Given the description of an element on the screen output the (x, y) to click on. 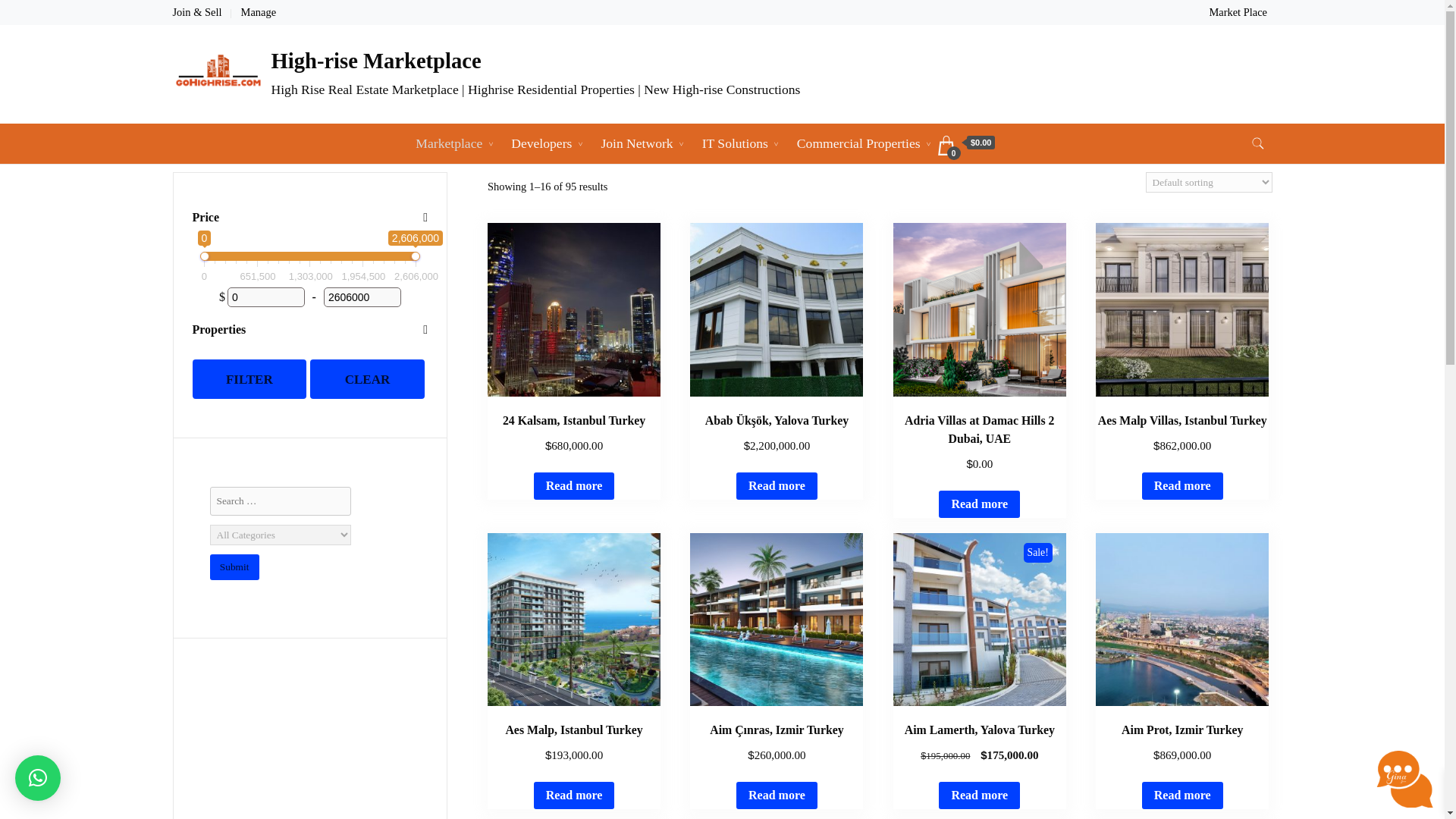
Commercial Properties (858, 143)
High-rise Marketplace (375, 60)
Manage (258, 11)
0 (265, 297)
Developers (541, 143)
Join Network (636, 143)
Submit (234, 567)
Market Place (1237, 11)
2606000 (362, 297)
IT Solutions (734, 143)
Marketplace (449, 143)
Cart (965, 145)
